Given the description of an element on the screen output the (x, y) to click on. 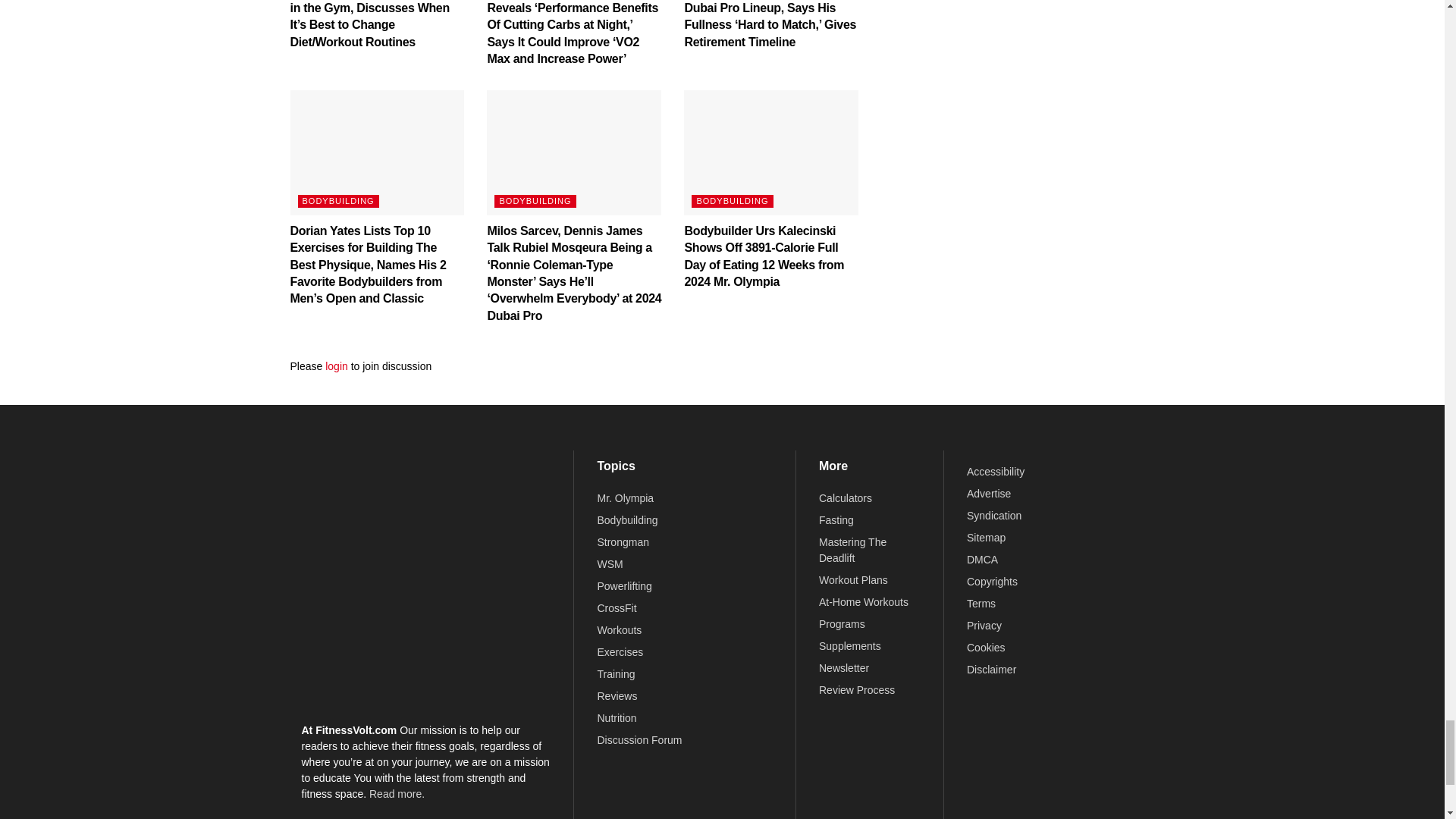
Read more about Fitness Volt (397, 793)
Accessibility Conformance Status (995, 471)
2019 Mr. Olympia News (624, 498)
